Given the description of an element on the screen output the (x, y) to click on. 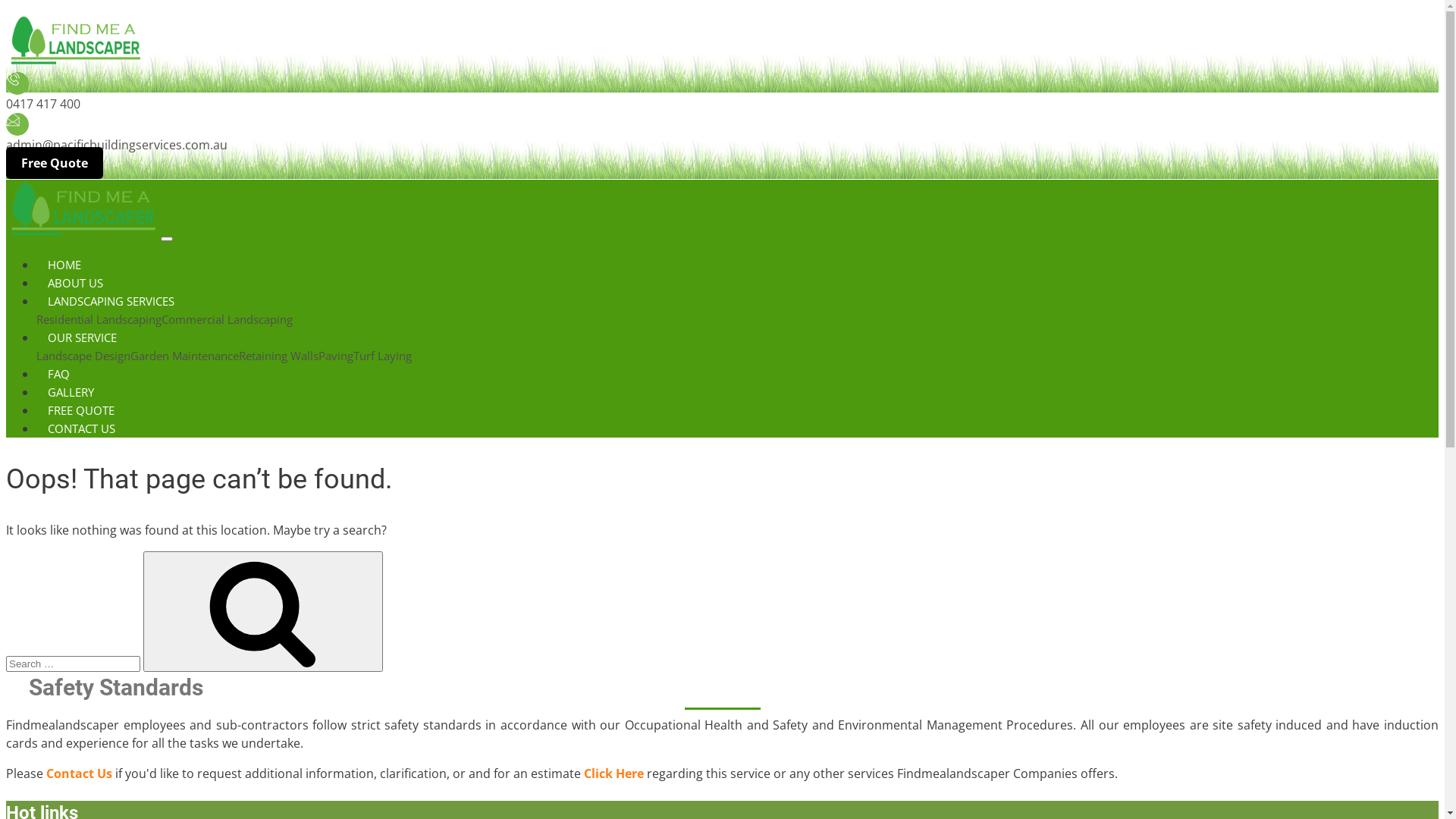
Click Here Element type: text (613, 773)
Retaining Walls Element type: text (278, 355)
ABOUT US Element type: text (75, 282)
Turf Laying Element type: text (382, 355)
admin@pacificbuildingservices.com.au Element type: text (116, 144)
Search Element type: text (262, 611)
Commercial Landscaping Element type: text (226, 318)
GALLERY Element type: text (70, 392)
Residential Landscaping Element type: text (98, 318)
FREE QUOTE Element type: text (80, 410)
OUR SERVICE Element type: text (82, 337)
CONTACT US Element type: text (81, 428)
Contact Us Element type: text (79, 773)
0417 417 400 Element type: text (43, 103)
FAQ Element type: text (58, 373)
Paving Element type: text (335, 355)
HOME Element type: text (64, 264)
Garden Maintenance Element type: text (184, 355)
Free Quote Element type: text (54, 162)
Landscape Design Element type: text (83, 355)
LANDSCAPING SERVICES Element type: text (110, 301)
